Given the description of an element on the screen output the (x, y) to click on. 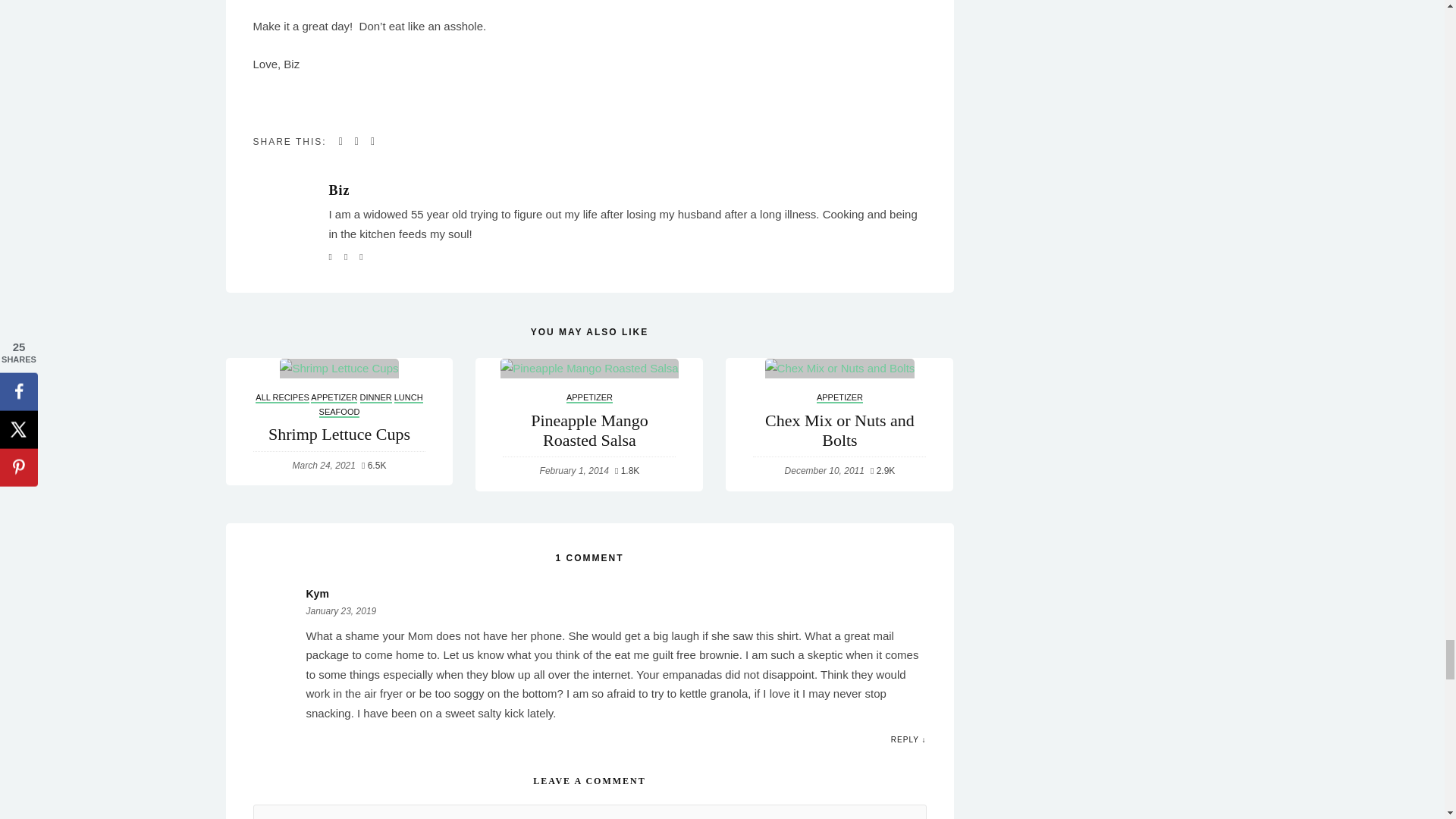
Pineapple Mango Roasted Salsa (589, 368)
Chex Mix or Nuts and Bolts (840, 368)
Shrimp Lettuce Cups (338, 368)
